Given the description of an element on the screen output the (x, y) to click on. 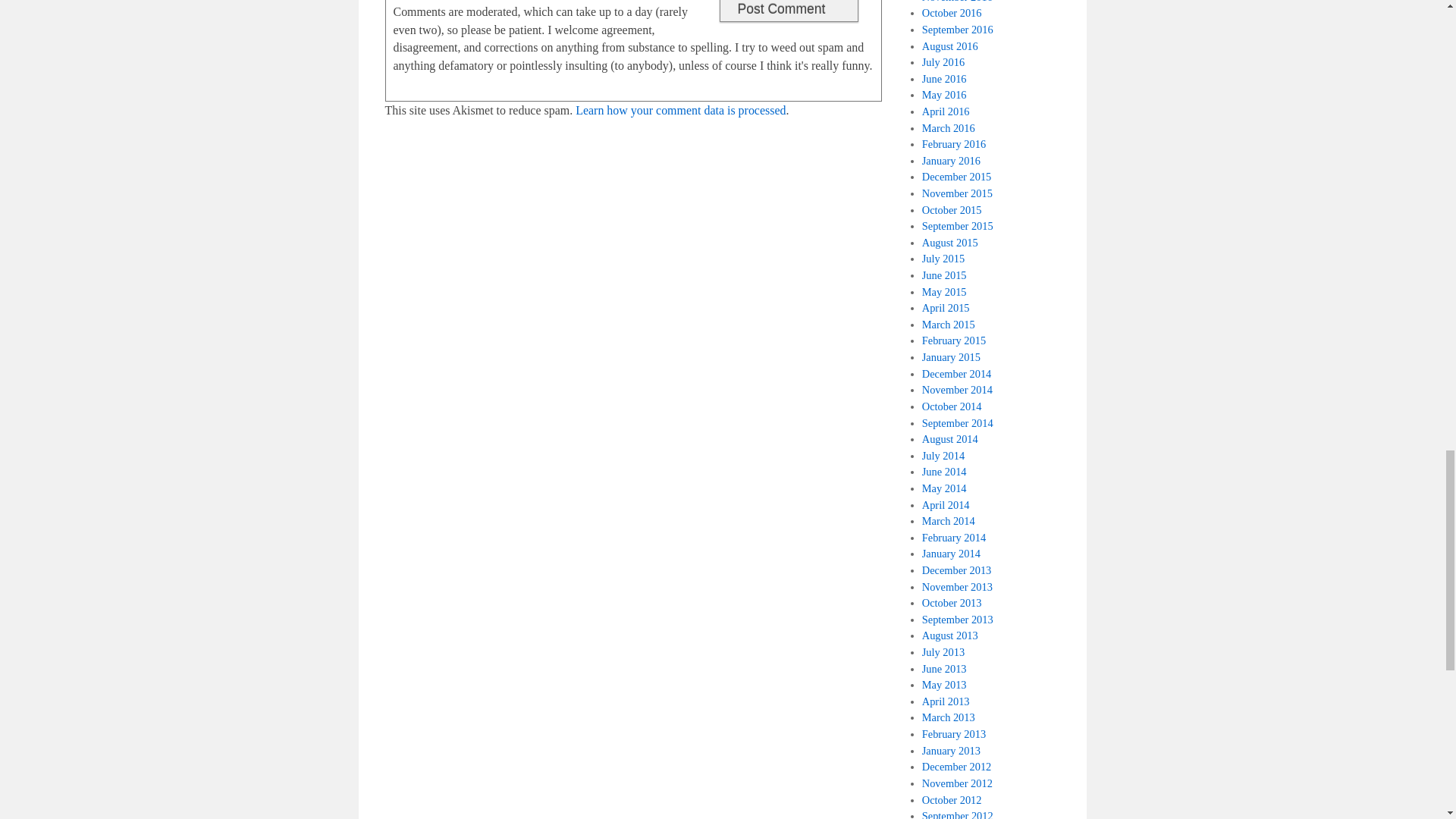
Post Comment (788, 11)
Learn how your comment data is processed (680, 110)
Post Comment (788, 11)
